Given the description of an element on the screen output the (x, y) to click on. 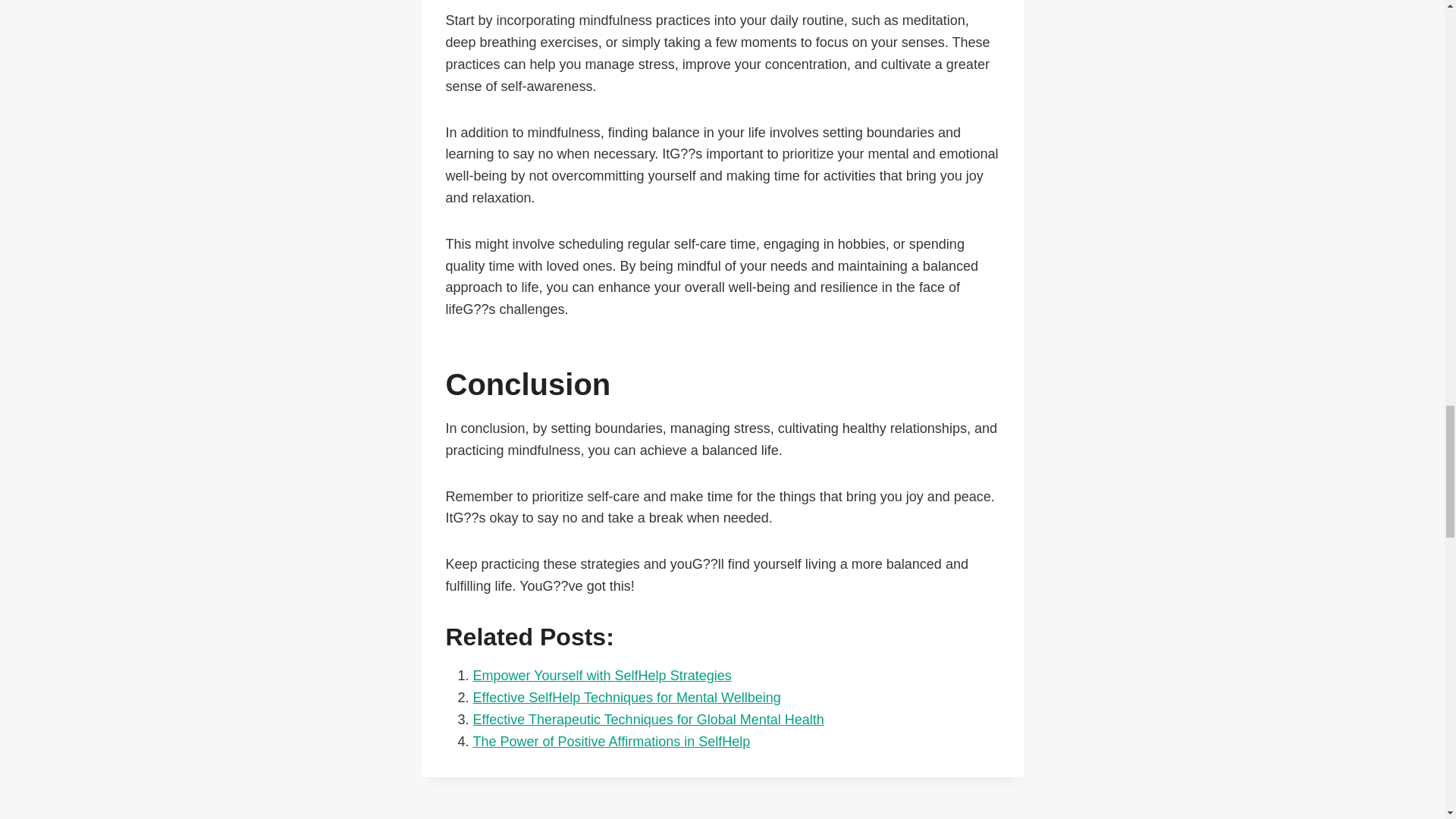
The Power of Positive Affirmations in SelfHelp (612, 741)
Effective SelfHelp Techniques for Mental Wellbeing (626, 697)
The Power of Positive Affirmations in SelfHelp (572, 815)
Effective Therapeutic Techniques for Global Mental Health (612, 741)
Effective SelfHelp Techniques for Mental Wellbeing (648, 719)
Empower Yourself with SelfHelp Strategies (626, 697)
Empower Yourself with SelfHelp Strategies (872, 815)
Effective Therapeutic Techniques for Global Mental Health (602, 675)
